Given the description of an element on the screen output the (x, y) to click on. 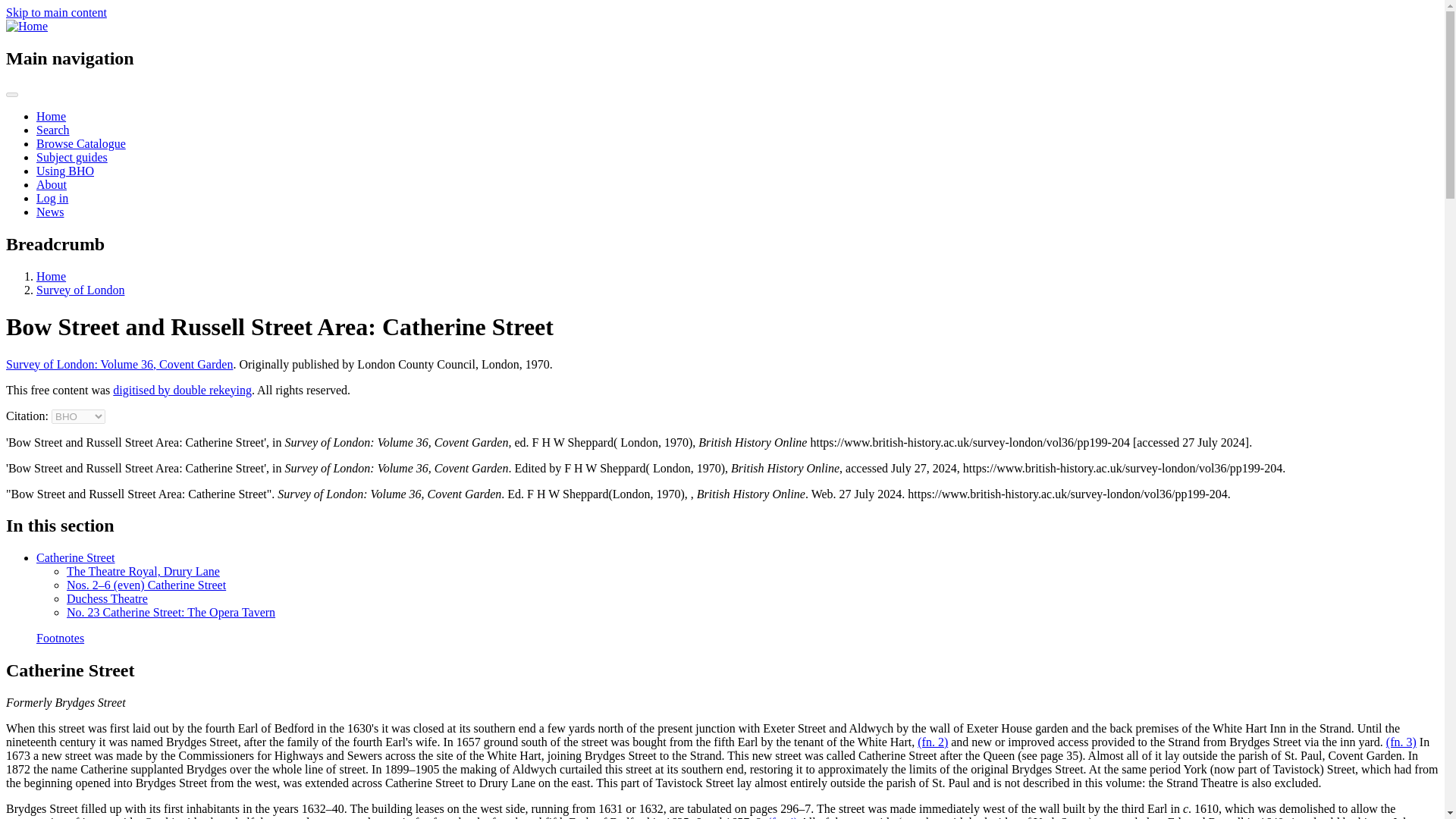
Footnotes (60, 637)
News (50, 211)
Skip to main content (55, 11)
Log in (52, 197)
Home (50, 115)
Browse Catalogue (80, 143)
About (51, 184)
Duchess Theatre (107, 598)
Subject guides (71, 156)
Catherine Street (75, 557)
Survey of London: Volume 36, Covent Garden (118, 364)
Using BHO (65, 170)
The Theatre Royal, Drury Lane (142, 571)
Search (52, 129)
Home (50, 276)
